Given the description of an element on the screen output the (x, y) to click on. 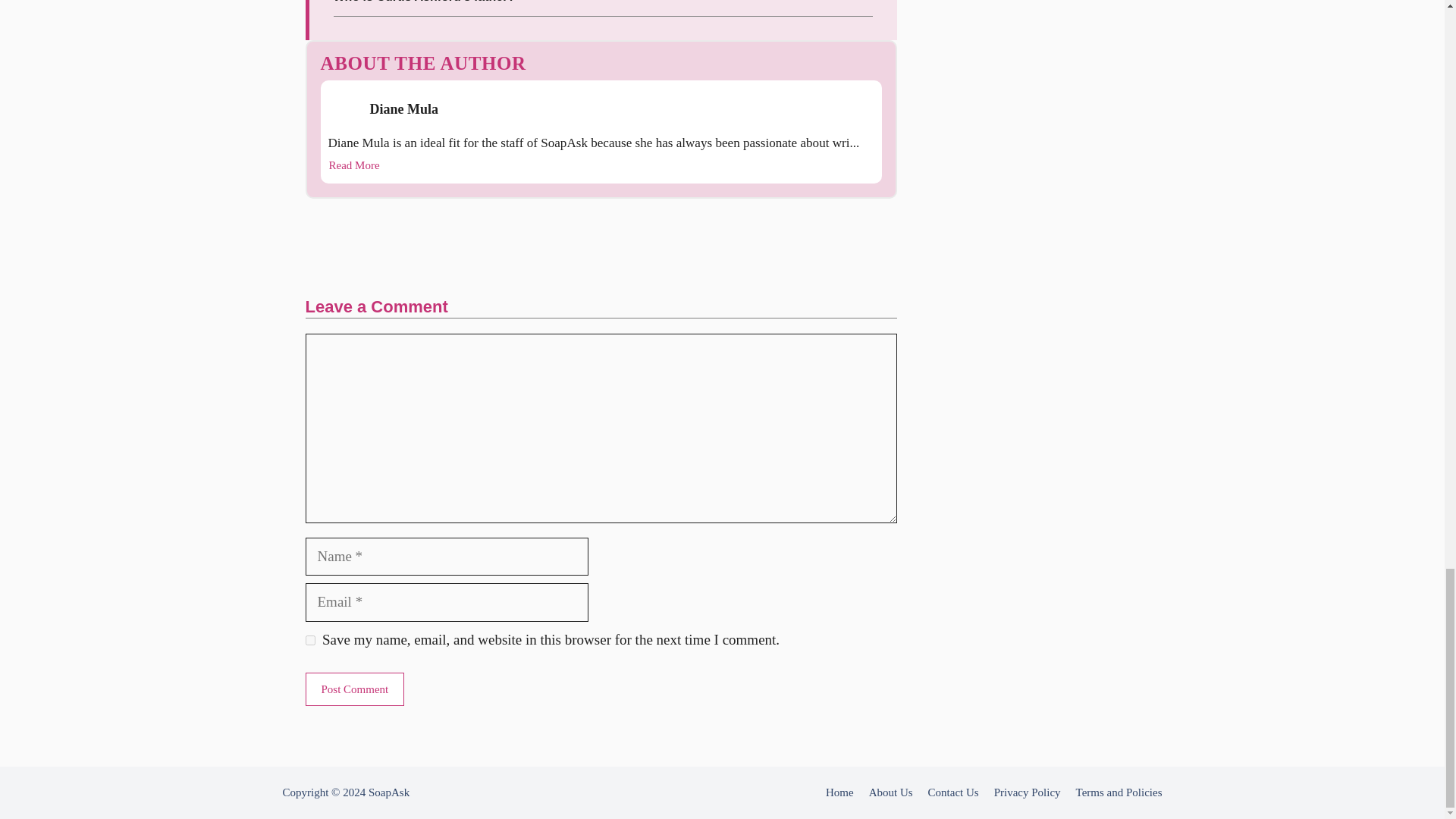
yes (309, 640)
Post Comment (354, 689)
